Given the description of an element on the screen output the (x, y) to click on. 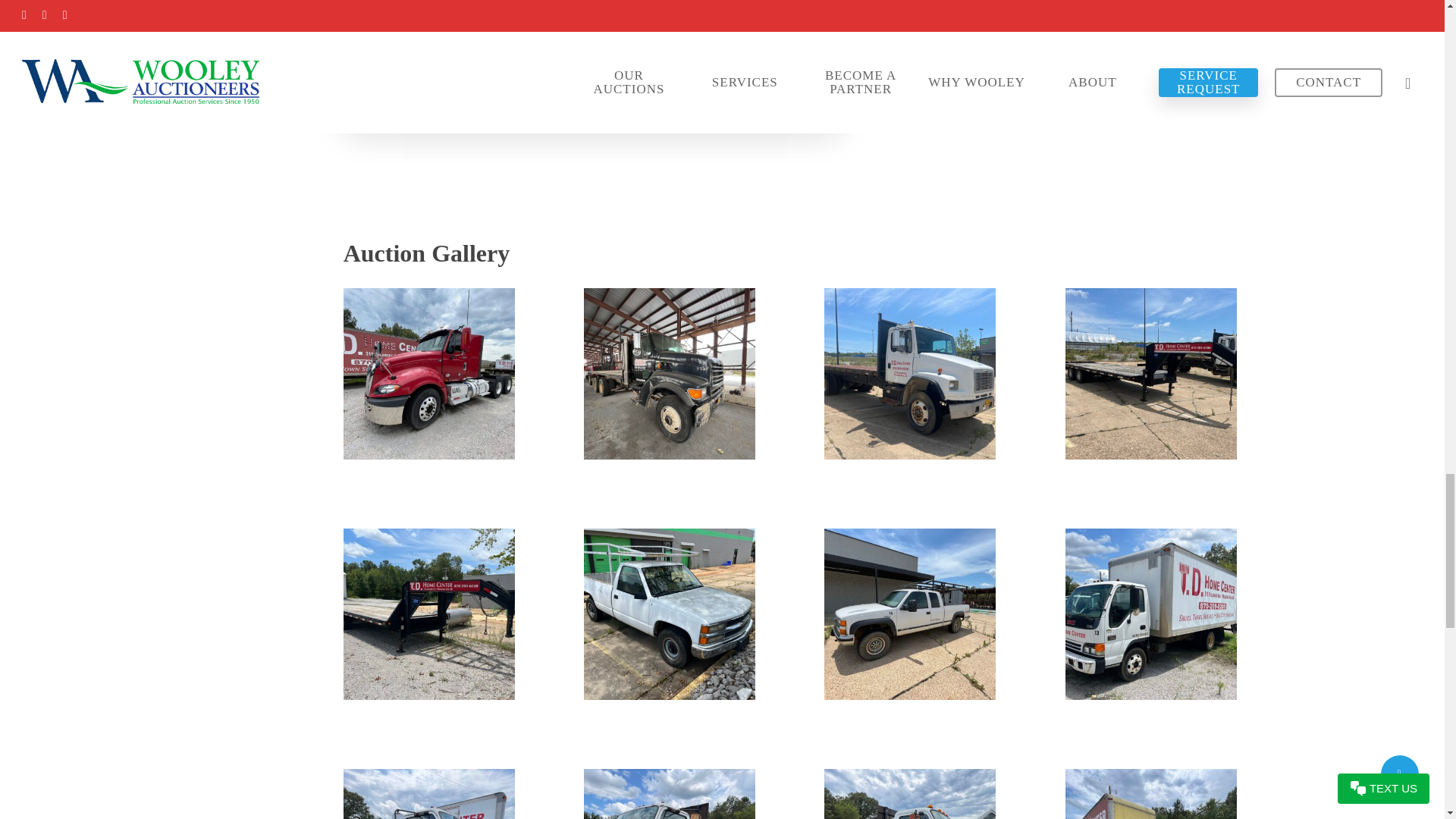
Twitter (424, 5)
IMG 5005 (669, 373)
IMG 4729 (1150, 373)
IMG 4959 (429, 373)
IMG 4693 (909, 373)
Facebook (389, 5)
